Given the description of an element on the screen output the (x, y) to click on. 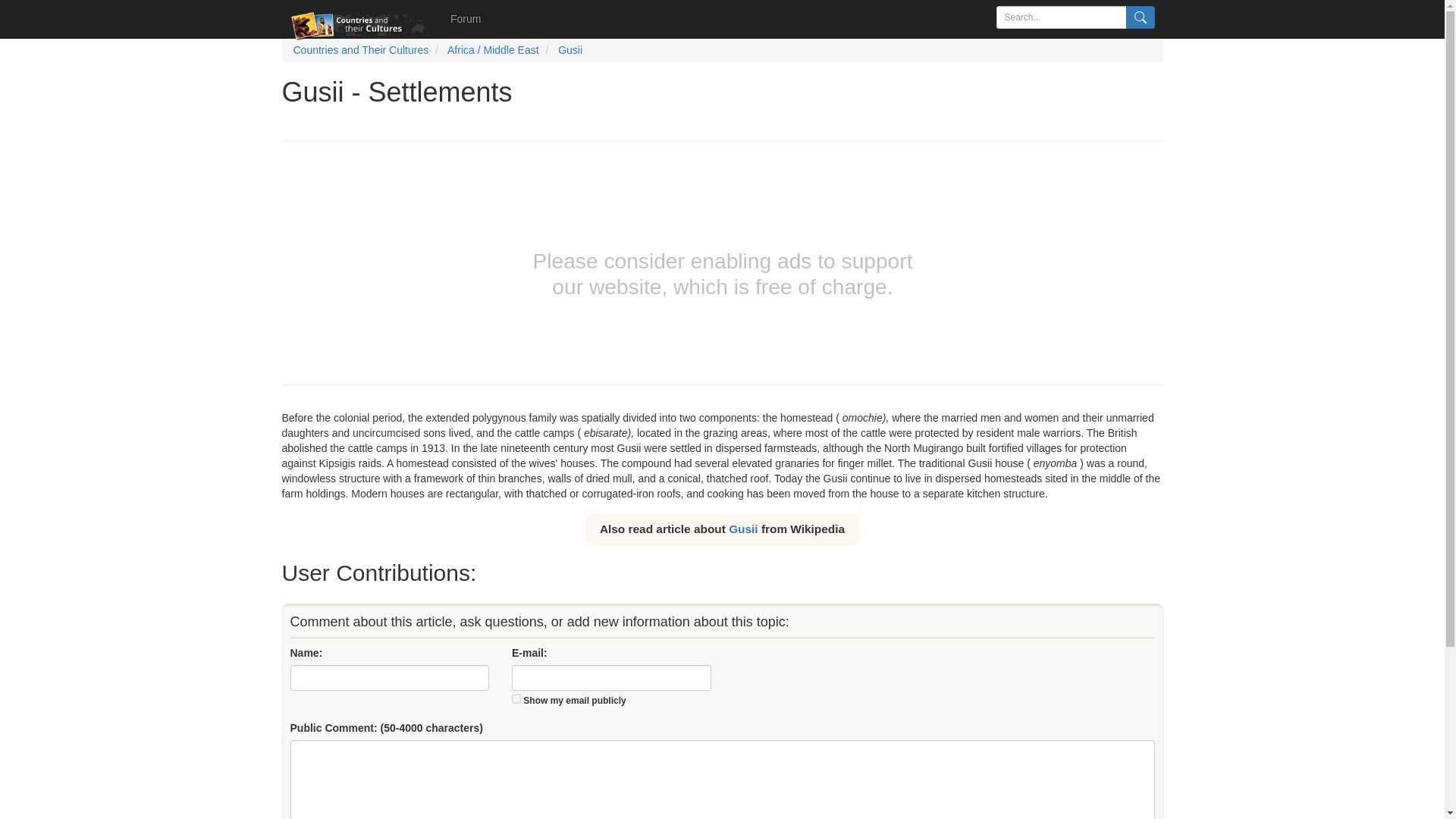
Gusii (569, 50)
1 (516, 698)
Countries and Their Cultures (360, 50)
Forum (465, 18)
Gusii (743, 527)
